Given the description of an element on the screen output the (x, y) to click on. 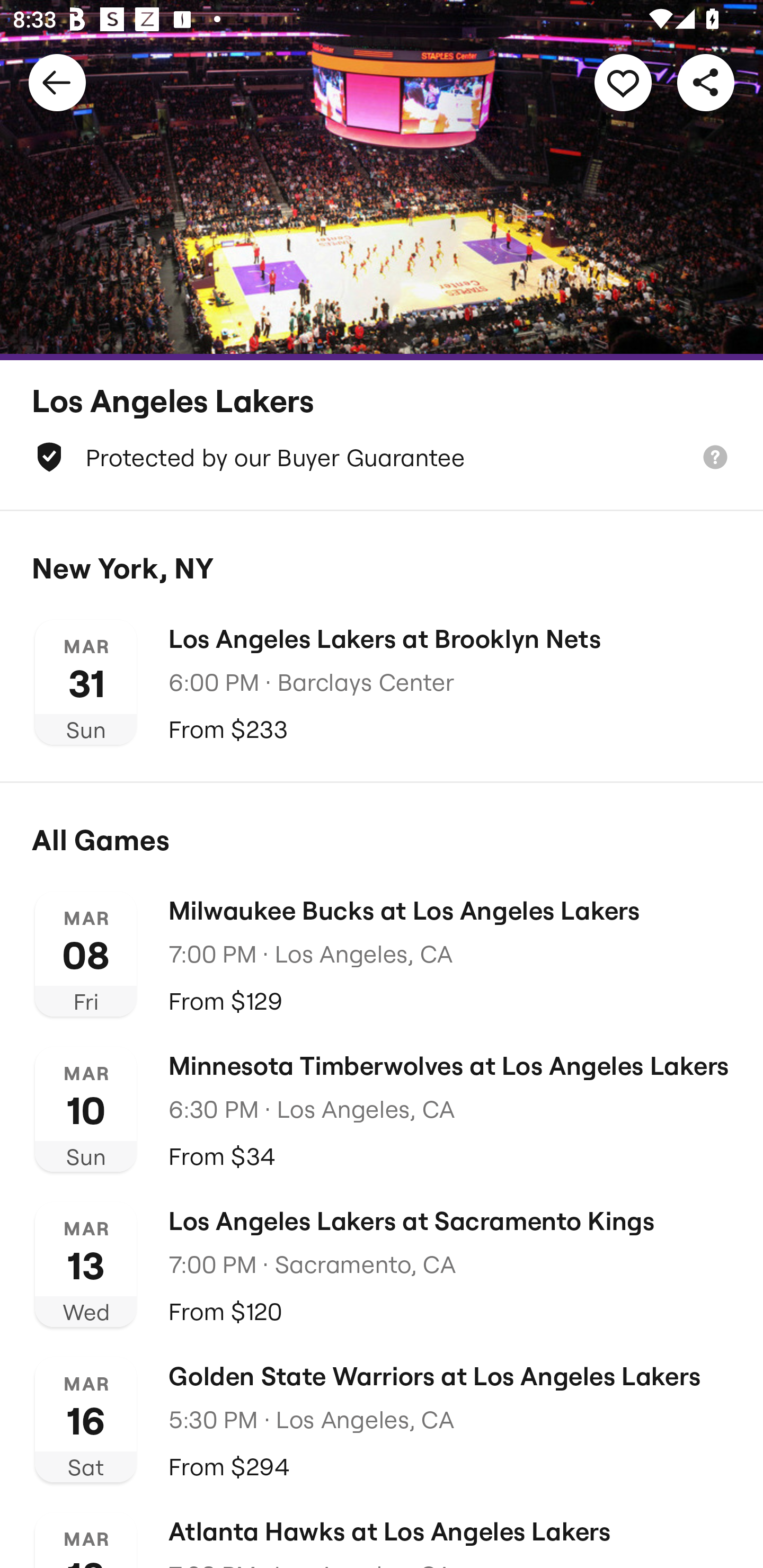
Back (57, 81)
Track this performer (623, 81)
Share this performer (705, 81)
Protected by our Buyer Guarantee Learn more (381, 456)
